Given the description of an element on the screen output the (x, y) to click on. 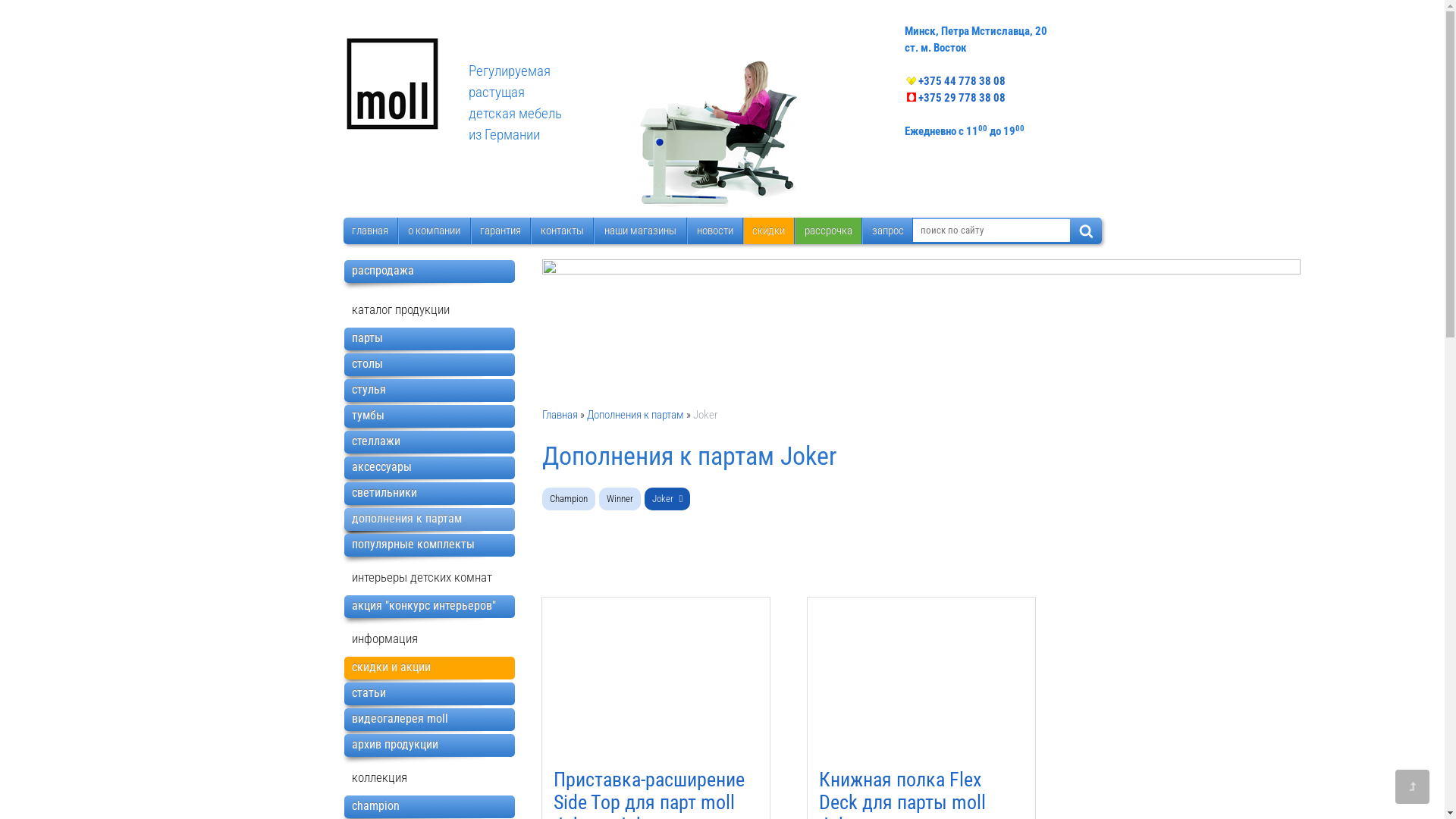
+375 44 778 38 08 Element type: text (953, 80)
Joker Element type: text (667, 498)
+375 29 778 38 08 Element type: text (953, 97)
champion Element type: text (429, 806)
Champion Element type: text (567, 498)
Winner Element type: text (619, 498)
